Given the description of an element on the screen output the (x, y) to click on. 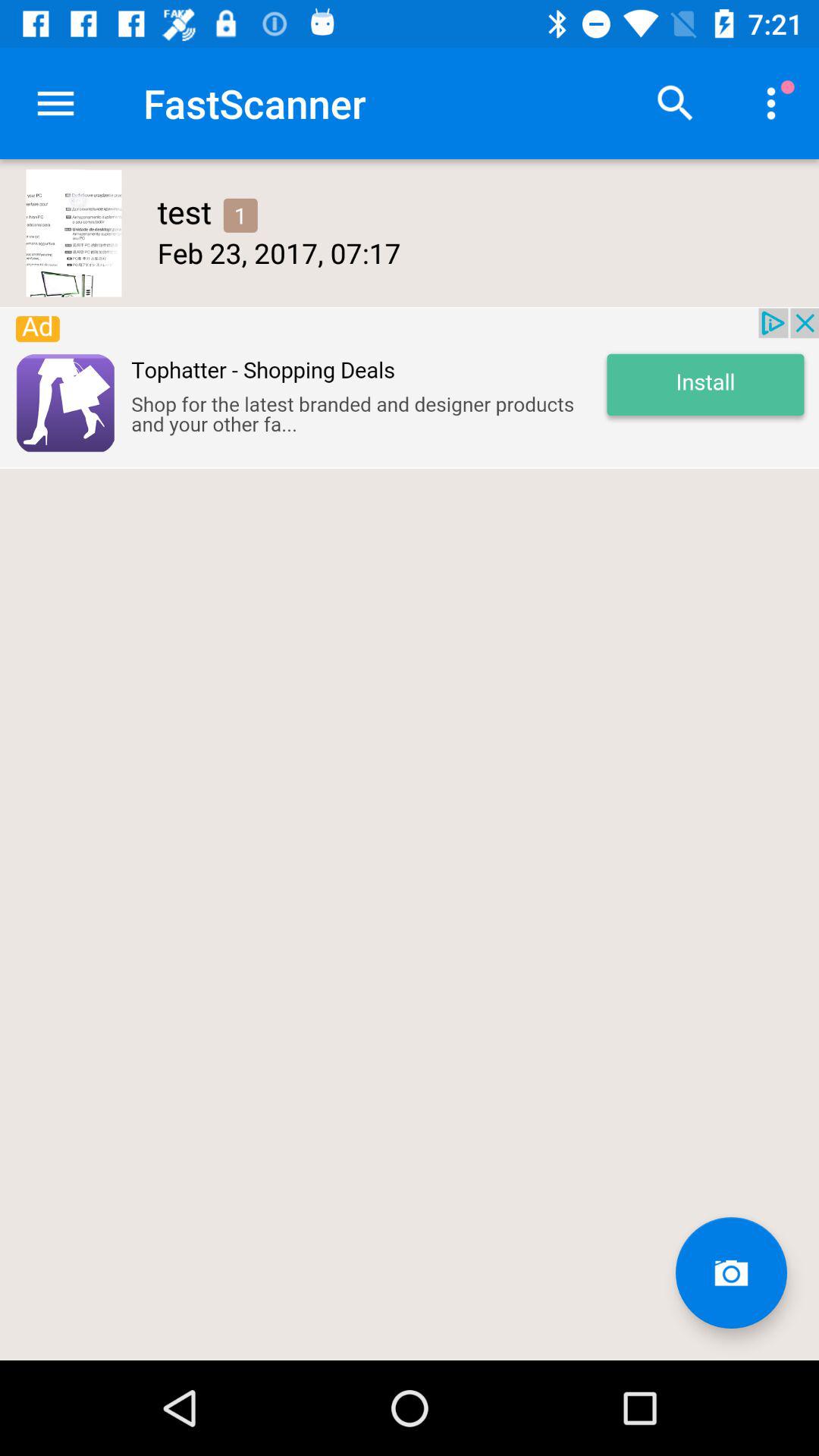
camera button (731, 1272)
